Given the description of an element on the screen output the (x, y) to click on. 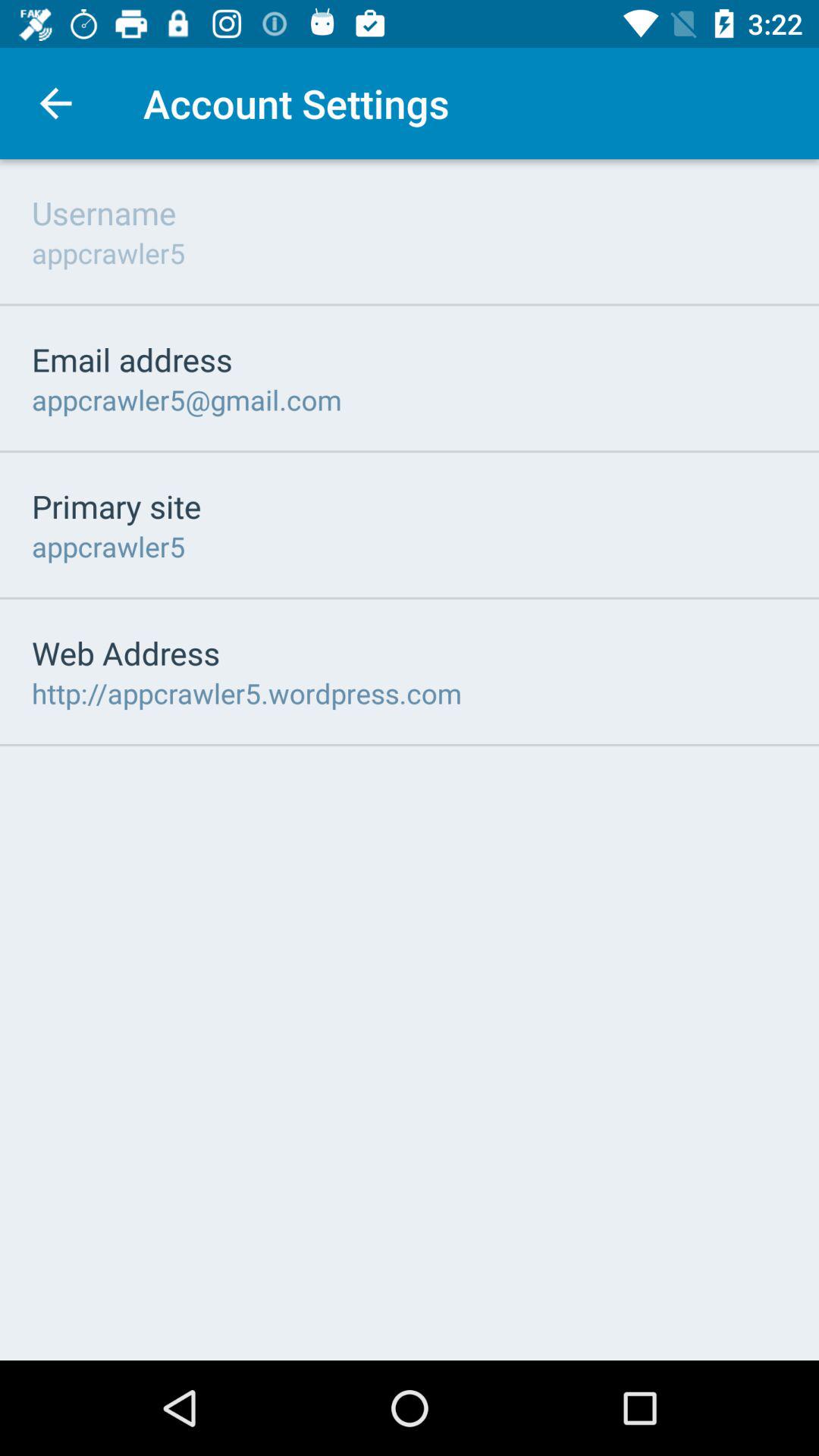
launch the icon below web address (246, 693)
